Given the description of an element on the screen output the (x, y) to click on. 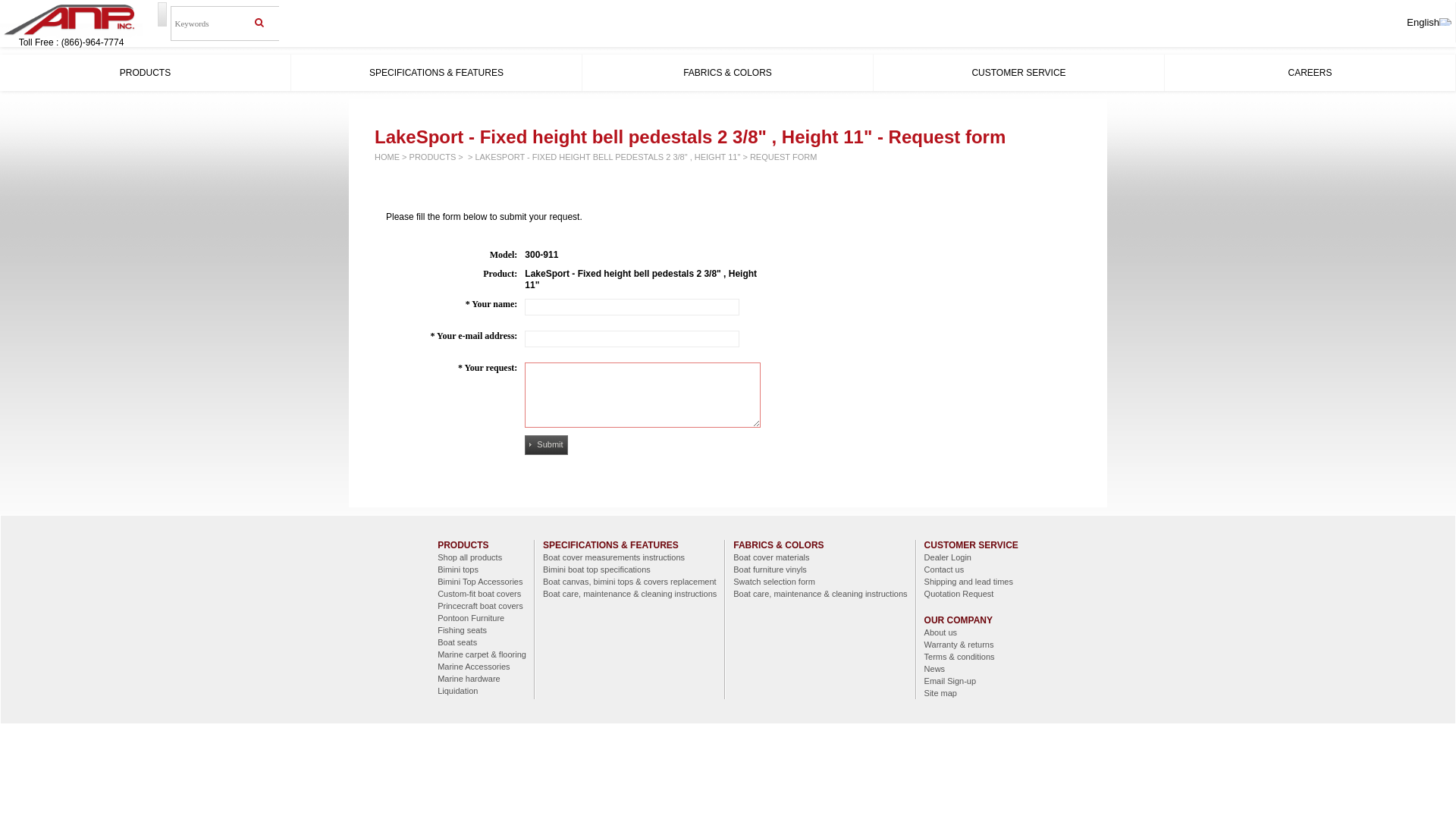
Bimini Top Accessories Element type: text (481, 581)
LAKESPORT - FIXED HEIGHT BELL PEDESTALS 2 3/8" , HEIGHT 11" Element type: text (607, 156)
FABRICS & COLORS Element type: text (727, 72)
Princecraft boat covers Element type: text (481, 605)
PRODUCTS Element type: text (462, 544)
Boat cover materials Element type: text (819, 557)
Contact us Element type: text (971, 569)
Boat canvas, bimini tops & covers replacement Element type: text (629, 581)
Boat care, maintenance & cleaning instructions Element type: text (629, 593)
Custom-fit boat covers Element type: text (481, 593)
Marine carpet & flooring Element type: text (481, 654)
Quotation Request Element type: text (971, 593)
Fishing seats Element type: text (481, 630)
Dealer Login Element type: text (971, 557)
About us Element type: text (971, 632)
Submit Element type: text (545, 445)
HOME Element type: text (386, 156)
Marine hardware Element type: text (481, 678)
CAREERS Element type: text (1309, 72)
Pontoon Furniture Element type: text (481, 617)
Boat cover measurements instructions Element type: text (629, 557)
PRODUCTS Element type: text (432, 156)
Bimini tops Element type: text (481, 569)
Toll Free : (866)-964-7774 Element type: text (71, 42)
Shipping and lead times Element type: text (971, 581)
Boat furniture vinyls Element type: text (819, 569)
CUSTOMER SERVICE Element type: text (1018, 72)
Bimini boat top specifications Element type: text (629, 569)
News Element type: text (971, 668)
Site map Element type: text (971, 693)
Shop all products Element type: text (481, 557)
Boat seats Element type: text (481, 642)
Boat care, maintenance & cleaning instructions Element type: text (819, 593)
SPECIFICATIONS & FEATURES Element type: text (610, 544)
PRODUCTS Element type: text (145, 72)
Swatch selection form Element type: text (819, 581)
Marine Accessories Element type: text (481, 666)
SPECIFICATIONS & FEATURES Element type: text (436, 72)
Liquidation Element type: text (481, 690)
FABRICS & COLORS Element type: text (778, 544)
Warranty & returns Element type: text (971, 644)
Terms & conditions Element type: text (971, 656)
CUSTOMER SERVICE Element type: text (971, 544)
OUR COMPANY Element type: text (958, 620)
